Given the description of an element on the screen output the (x, y) to click on. 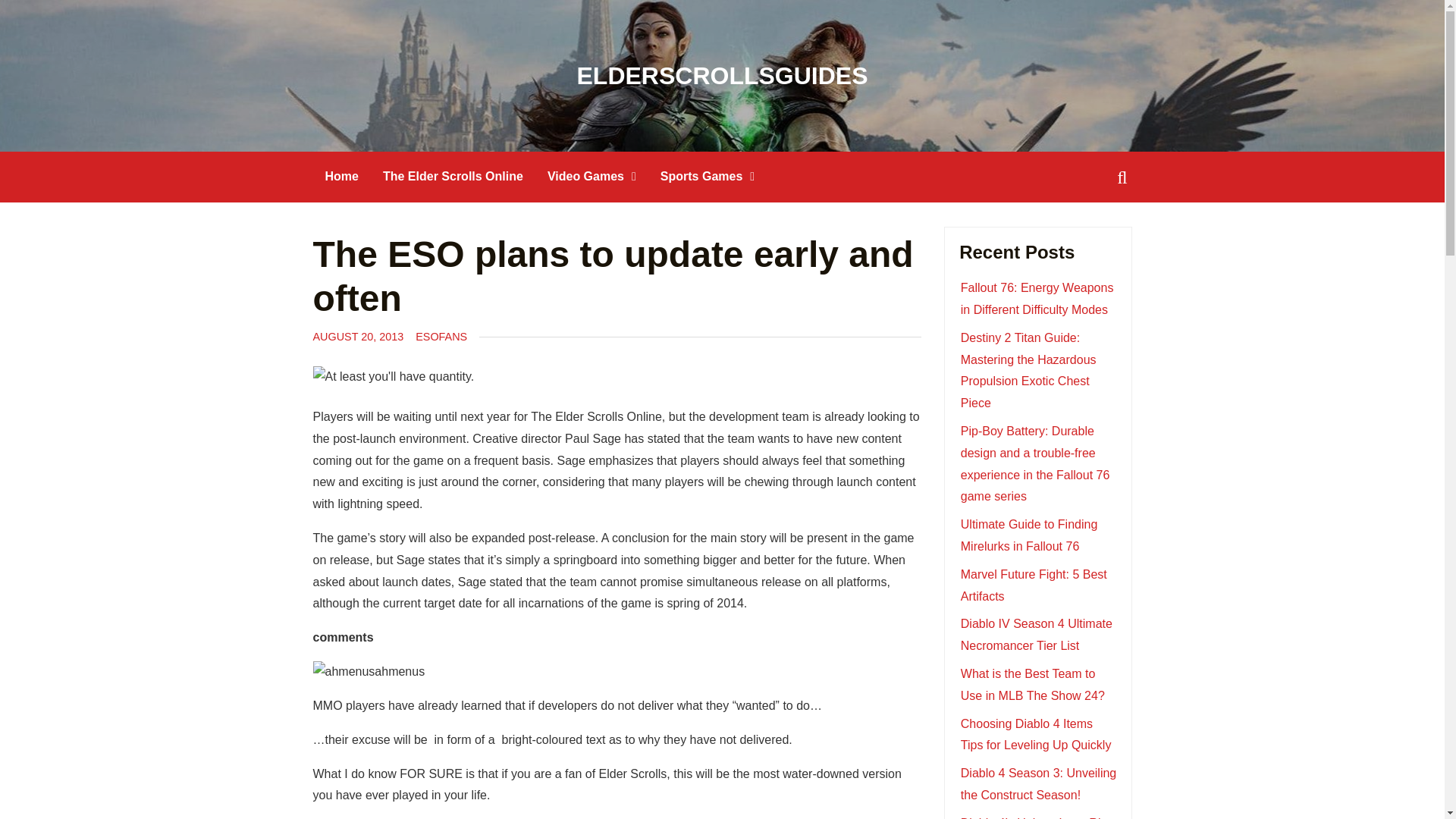
ELDERSCROLLSGUIDES (721, 75)
Search (39, 13)
Home (341, 176)
Video Games (591, 176)
The Elder Scrolls Online (453, 176)
AUGUST 20, 2013 (358, 336)
ESOFANS (440, 336)
Sports Games (707, 176)
